Given the description of an element on the screen output the (x, y) to click on. 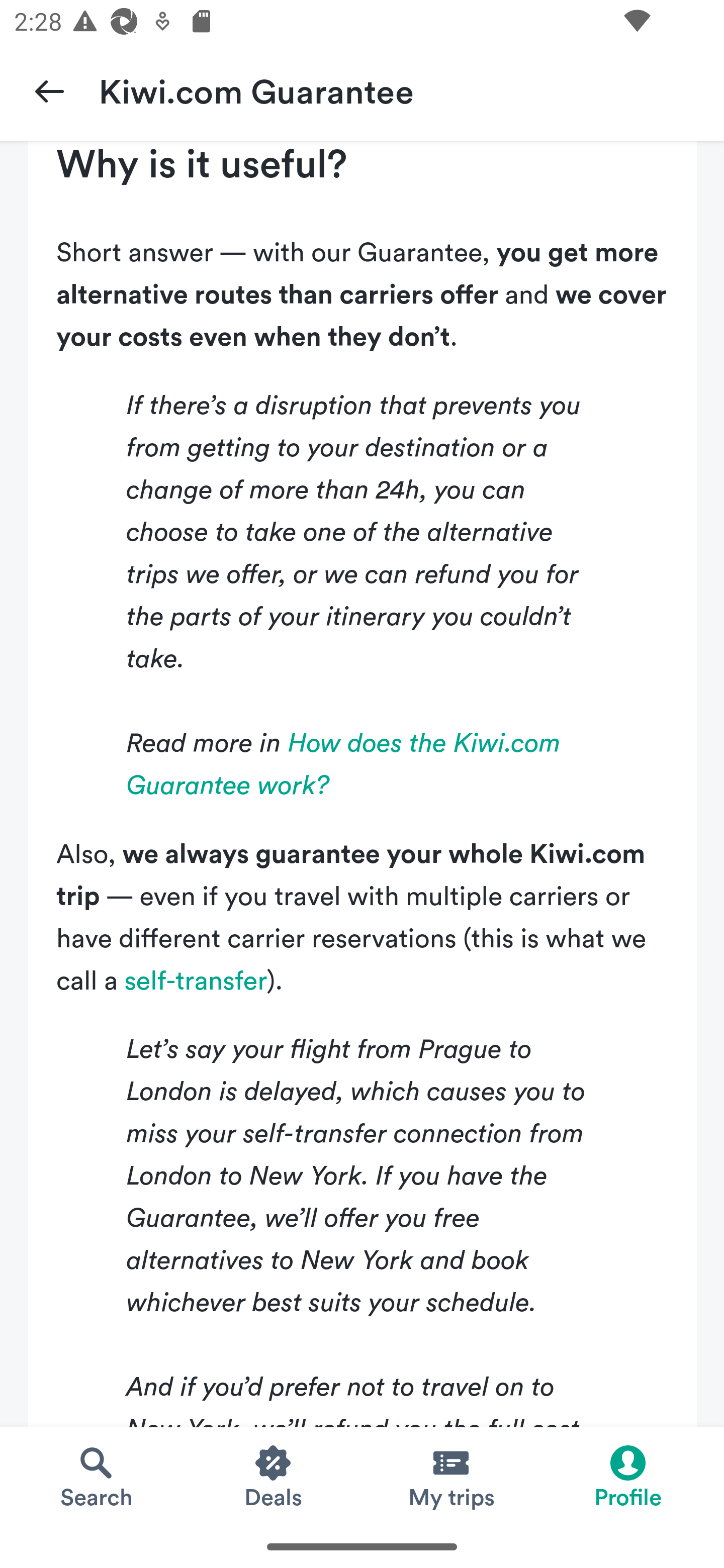
Navigate up (49, 90)
Search (95, 1475)
Deals (273, 1475)
My trips (450, 1475)
